Given the description of an element on the screen output the (x, y) to click on. 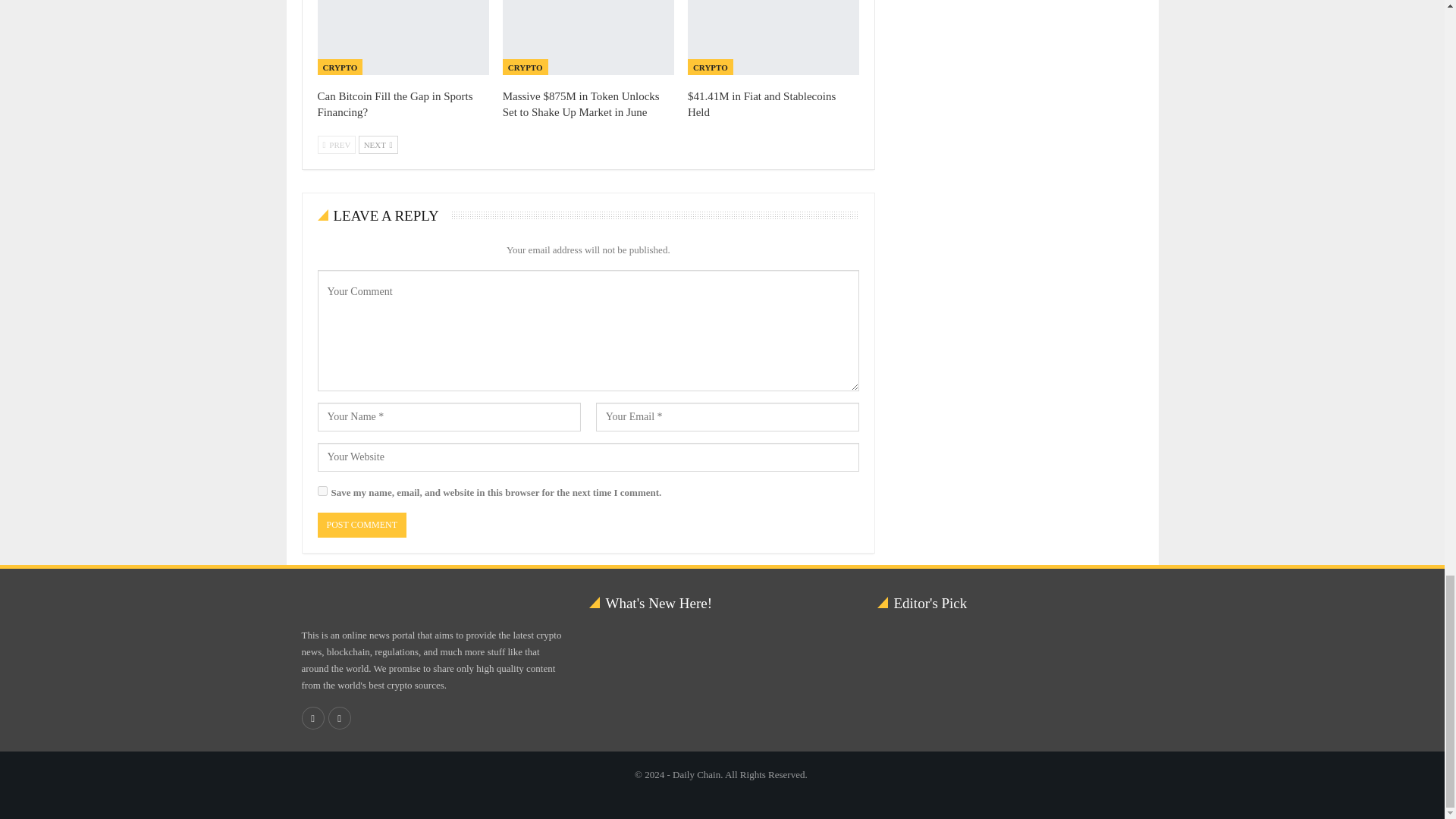
Can Bitcoin Fill the Gap in Sports Financing? (402, 37)
Post Comment (361, 524)
Can Bitcoin Fill the Gap in Sports Financing? (394, 103)
yes (321, 491)
